Given the description of an element on the screen output the (x, y) to click on. 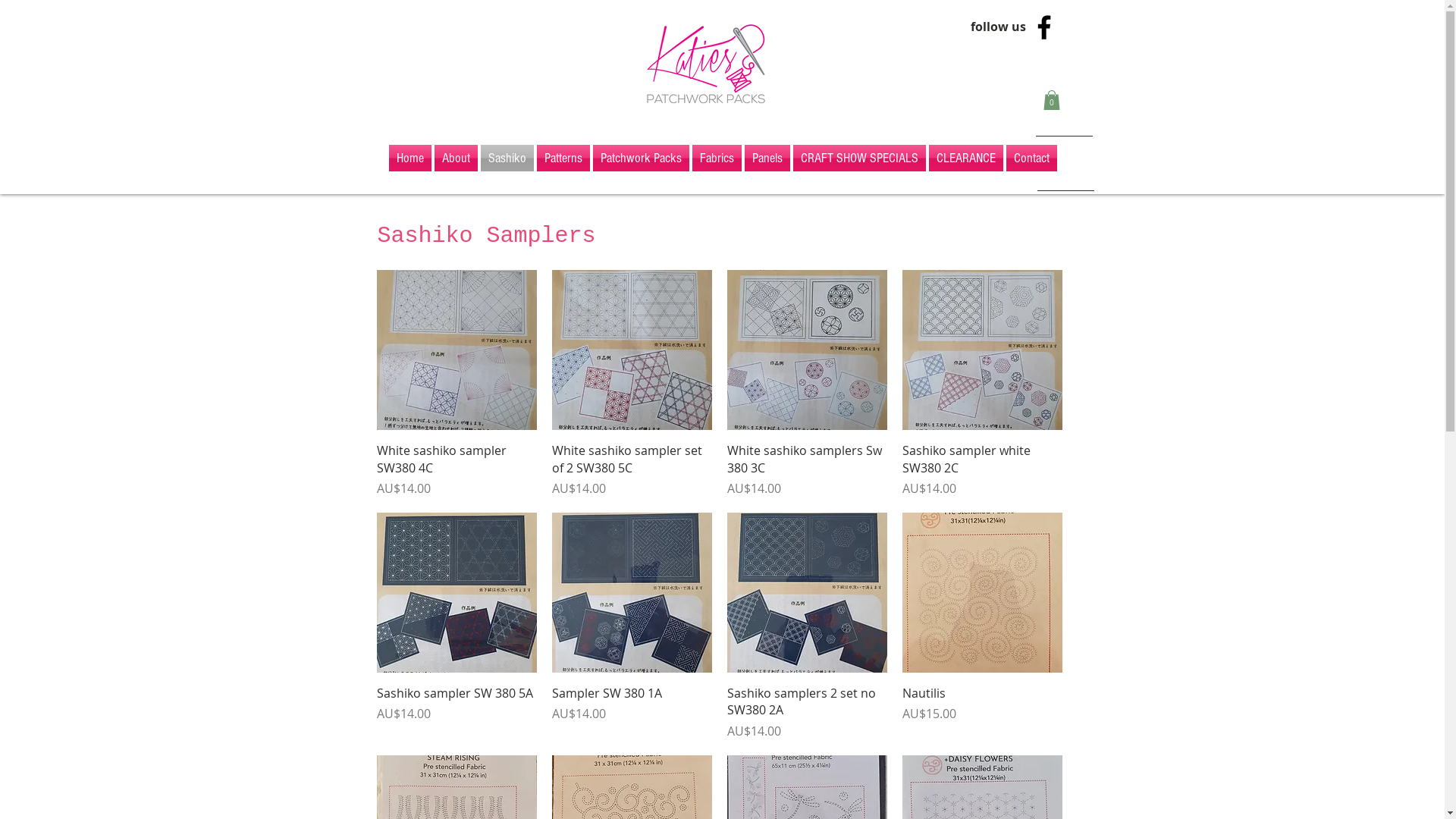
Sashiko sampler SW 380 5A
Price
AU$14.00 Element type: text (456, 712)
Fabrics Element type: text (716, 157)
Sashiko sampler white SW380 2C
Price
AU$14.00 Element type: text (982, 469)
About Element type: text (455, 157)
White sashiko samplers Sw 380 3C
Price
AU$14.00 Element type: text (806, 469)
Sampler SW 380 1A
Price
AU$14.00 Element type: text (632, 712)
Sashiko Element type: text (507, 157)
Patchwork Packs Element type: text (640, 157)
Nautilis
Price
AU$15.00 Element type: text (982, 712)
0 Element type: text (1051, 99)
39914_Katies_Patchwork_Packs_LOGO_M.png Element type: hover (704, 63)
CLEARANCE Element type: text (965, 157)
Patterns Element type: text (563, 157)
CRAFT SHOW SPECIALS Element type: text (859, 157)
Panels Element type: text (767, 157)
White sashiko sampler SW380 4C
Price
AU$14.00 Element type: text (456, 469)
Contact Element type: text (1030, 157)
Home Element type: text (409, 157)
Sashiko samplers 2 set no SW380 2A
Price
AU$14.00 Element type: text (806, 712)
White sashiko sampler set of 2 SW380 5C
Price
AU$14.00 Element type: text (632, 469)
